Given the description of an element on the screen output the (x, y) to click on. 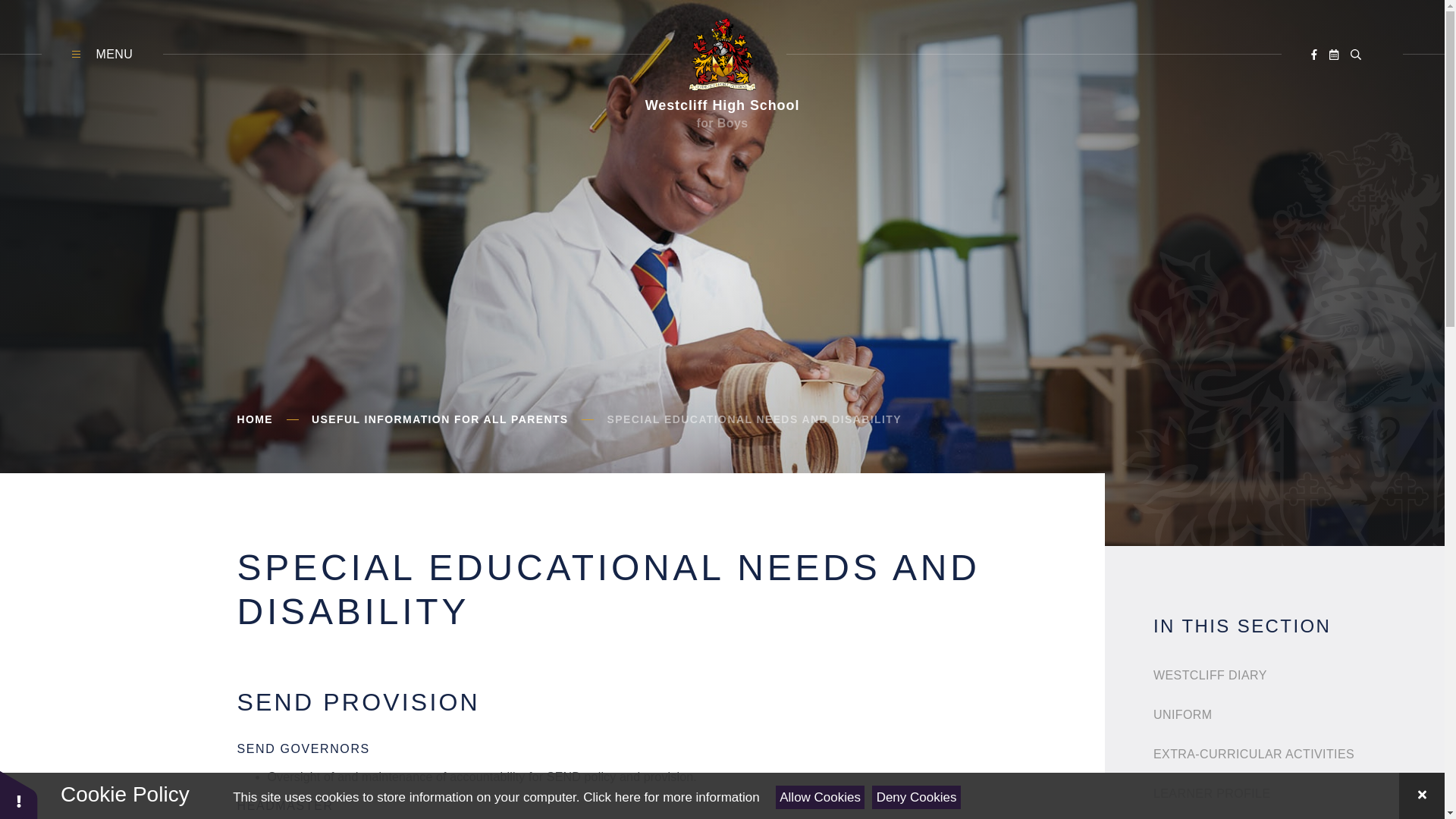
Allow Cookies (820, 797)
MENU (101, 54)
See cookie policy (670, 797)
Deny Cookies (915, 797)
